Given the description of an element on the screen output the (x, y) to click on. 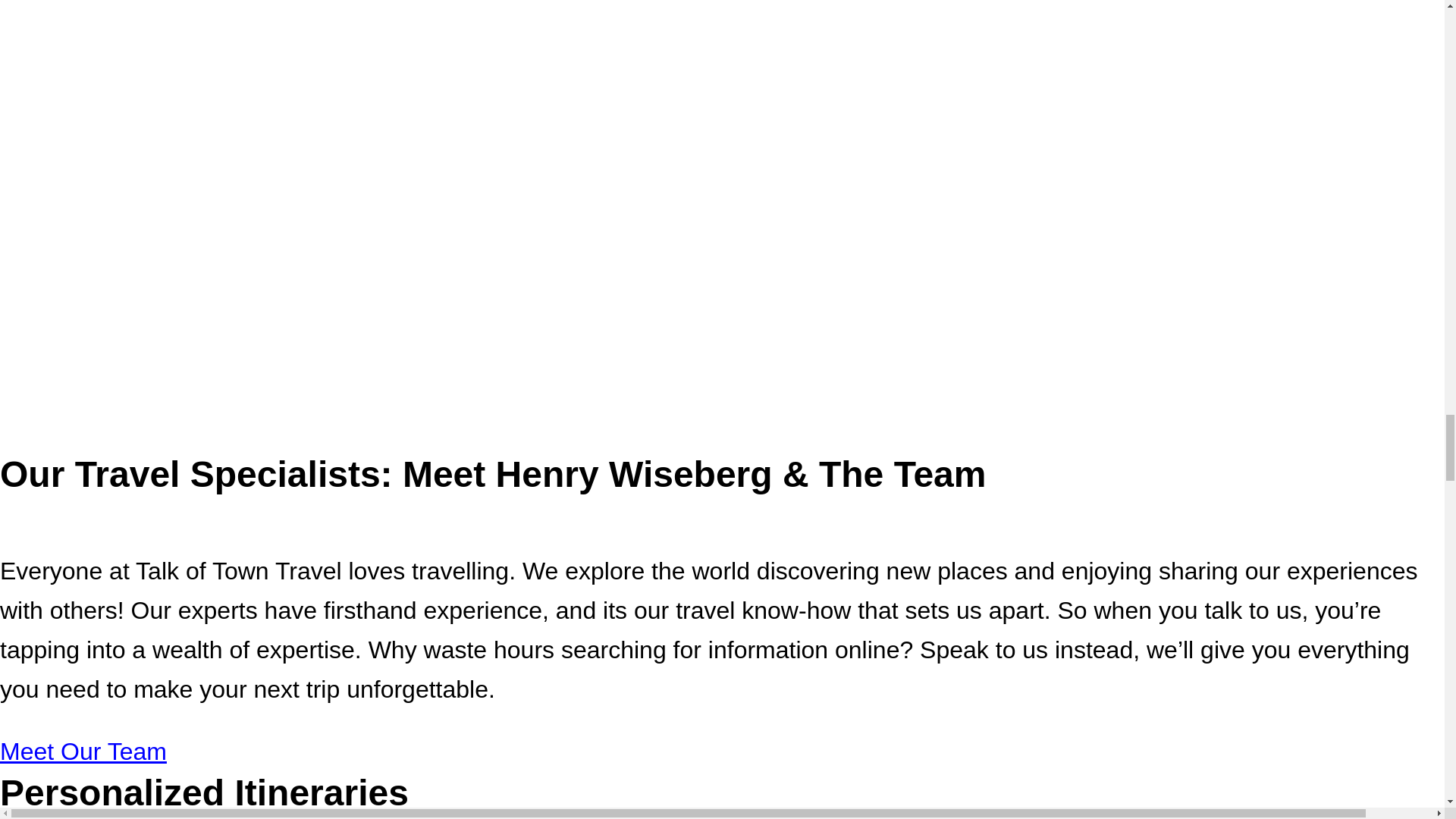
Meet Our Team (83, 750)
